Given the description of an element on the screen output the (x, y) to click on. 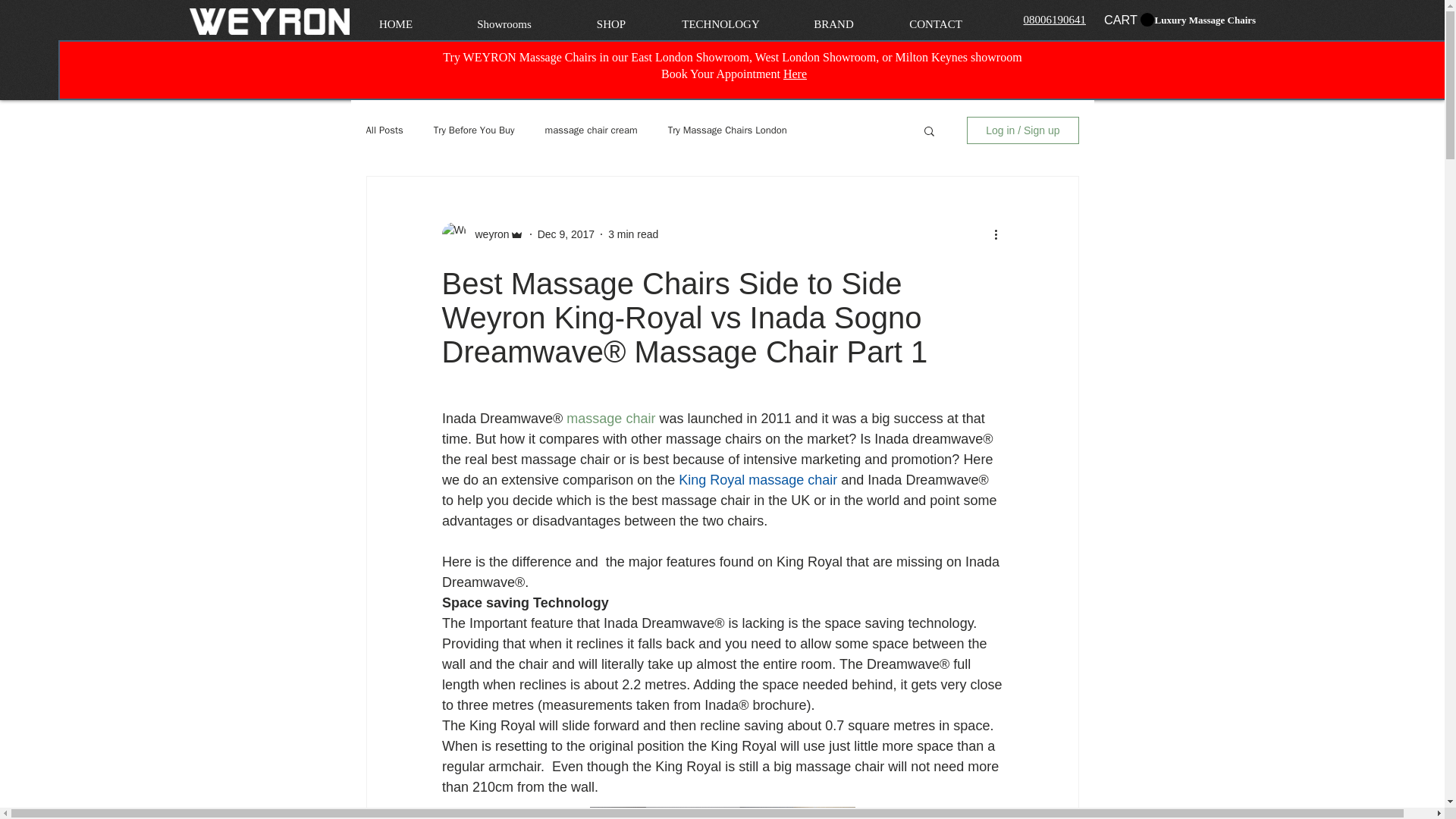
massage chair cream (590, 130)
Showrooms (504, 23)
Try Before You Buy (474, 130)
massage chair  (612, 418)
SHOP (610, 23)
King Royal massage chair (757, 479)
CONTACT (935, 23)
All Posts (384, 130)
Dec 9, 2017 (566, 234)
Here (794, 73)
